Given the description of an element on the screen output the (x, y) to click on. 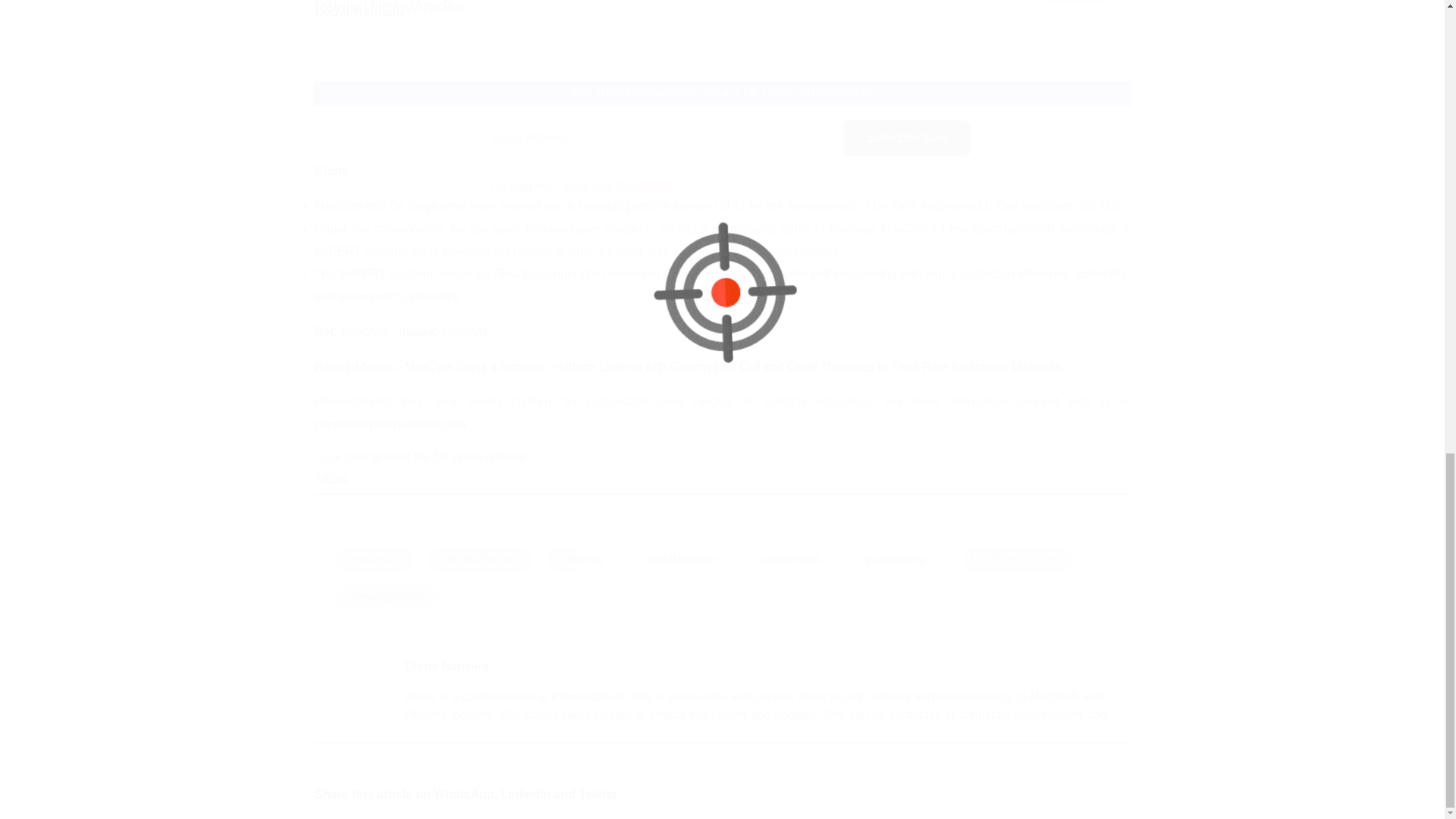
on (481, 185)
be biopharma (480, 559)
partnership (895, 559)
pharma (582, 559)
collaboration (682, 559)
Pharma (1076, 0)
maxcyte (375, 559)
Disha Nankani (445, 666)
agreement (790, 559)
